Given the description of an element on the screen output the (x, y) to click on. 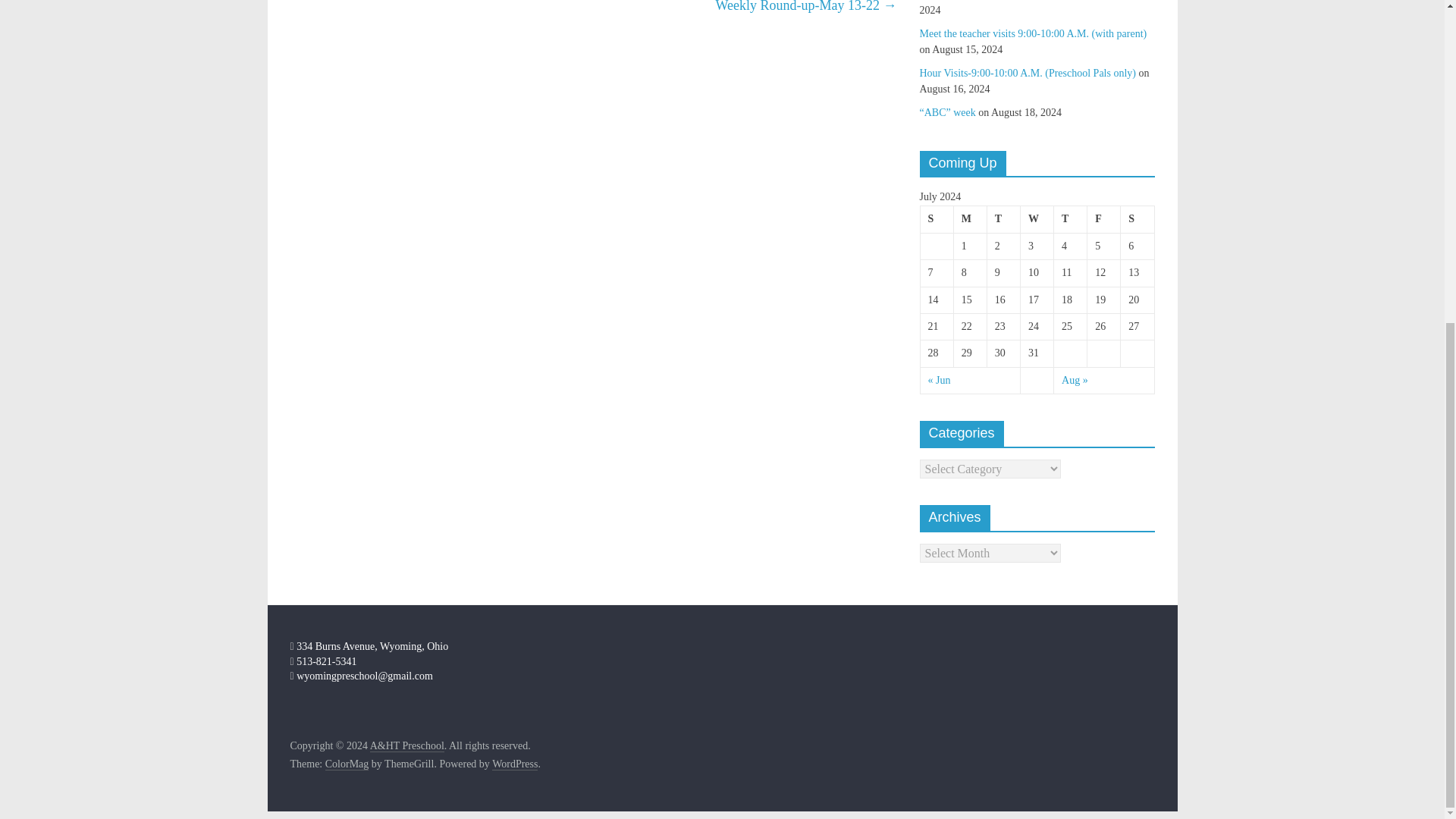
Wednesday (1036, 219)
Sunday (936, 219)
Saturday (1137, 219)
Friday (1104, 219)
Previous month (939, 379)
334 Burns Avenue, Wyoming, Ohio (368, 645)
WordPress (514, 764)
513-821-5341 (322, 661)
Monday (970, 219)
ColorMag (346, 764)
Tuesday (1003, 219)
Thursday (1070, 219)
